Given the description of an element on the screen output the (x, y) to click on. 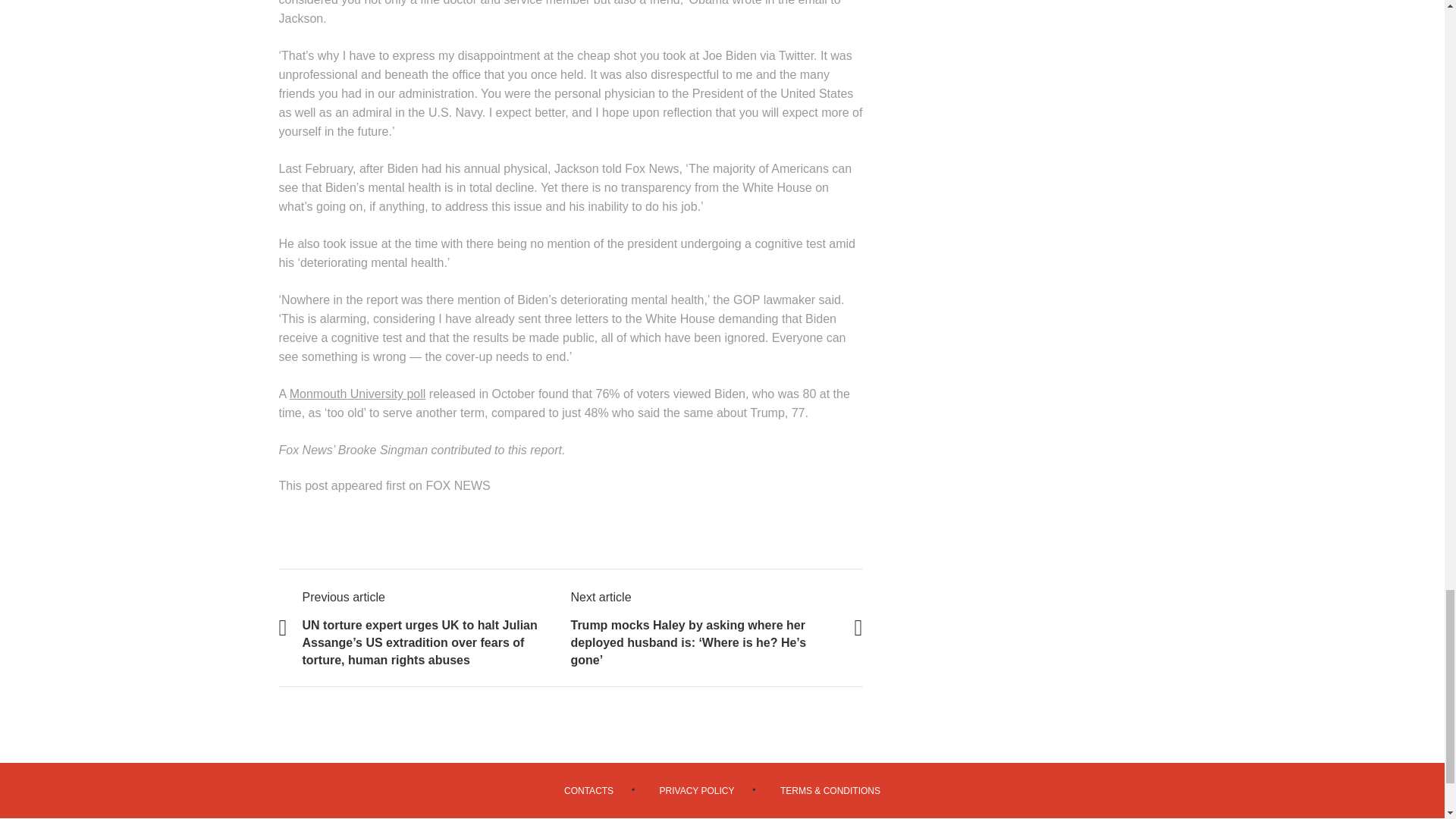
CONTACTS (588, 790)
PRIVACY POLICY (697, 790)
